Given the description of an element on the screen output the (x, y) to click on. 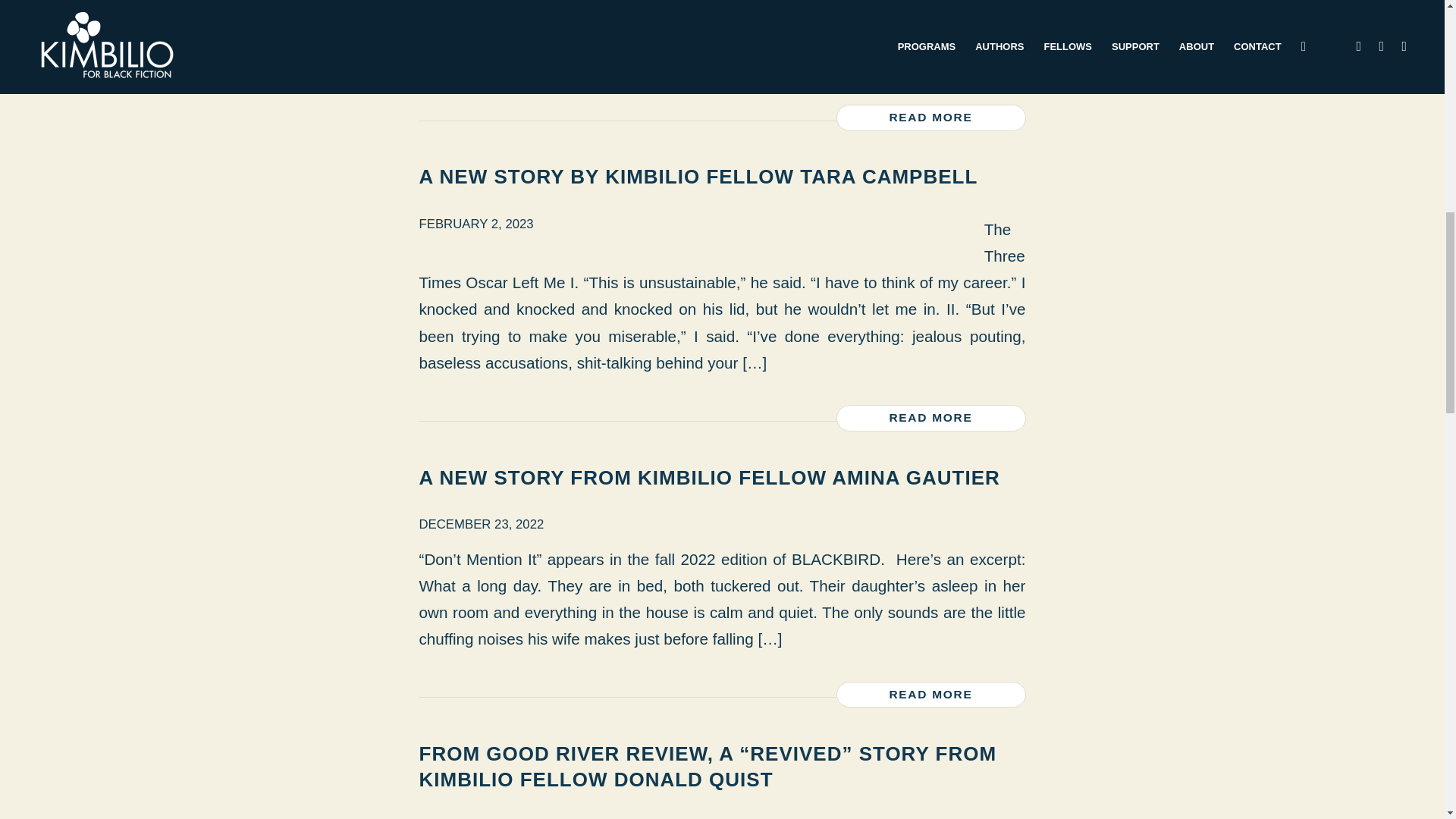
READ MORE (930, 117)
A NEW STORY BY KIMBILIO FELLOW TARA CAMPBELL (697, 176)
READ MORE (930, 694)
A NEW STORY FROM KIMBILIO FELLOW AMINA GAUTIER (708, 477)
Permanent Link: A New Story by Kimbilio Fellow Tara Campbell (697, 176)
READ MORE (930, 417)
